Given the description of an element on the screen output the (x, y) to click on. 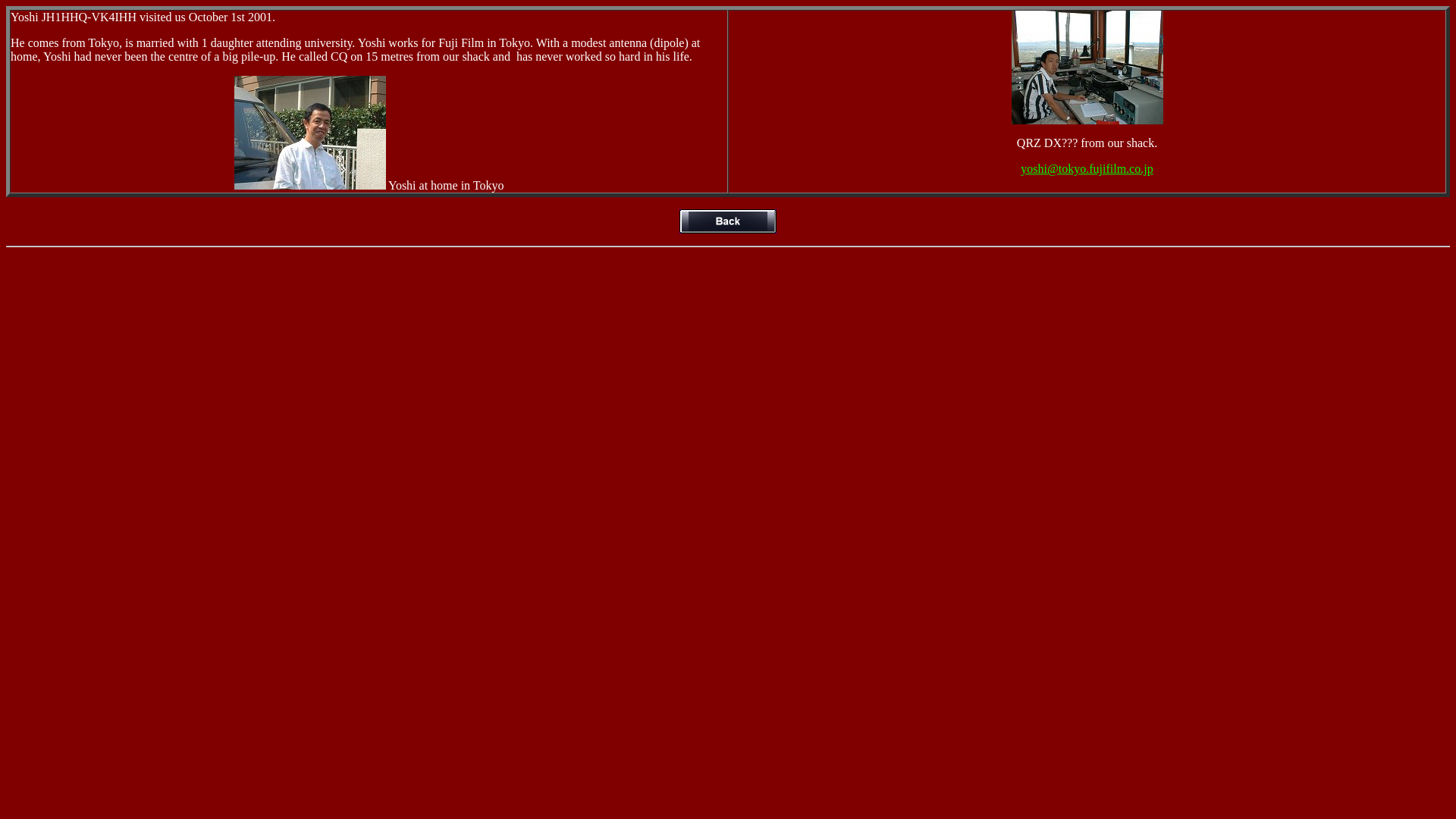
yoshi@tokyo.fujifilm.co.jp Element type: text (1086, 168)
